Given the description of an element on the screen output the (x, y) to click on. 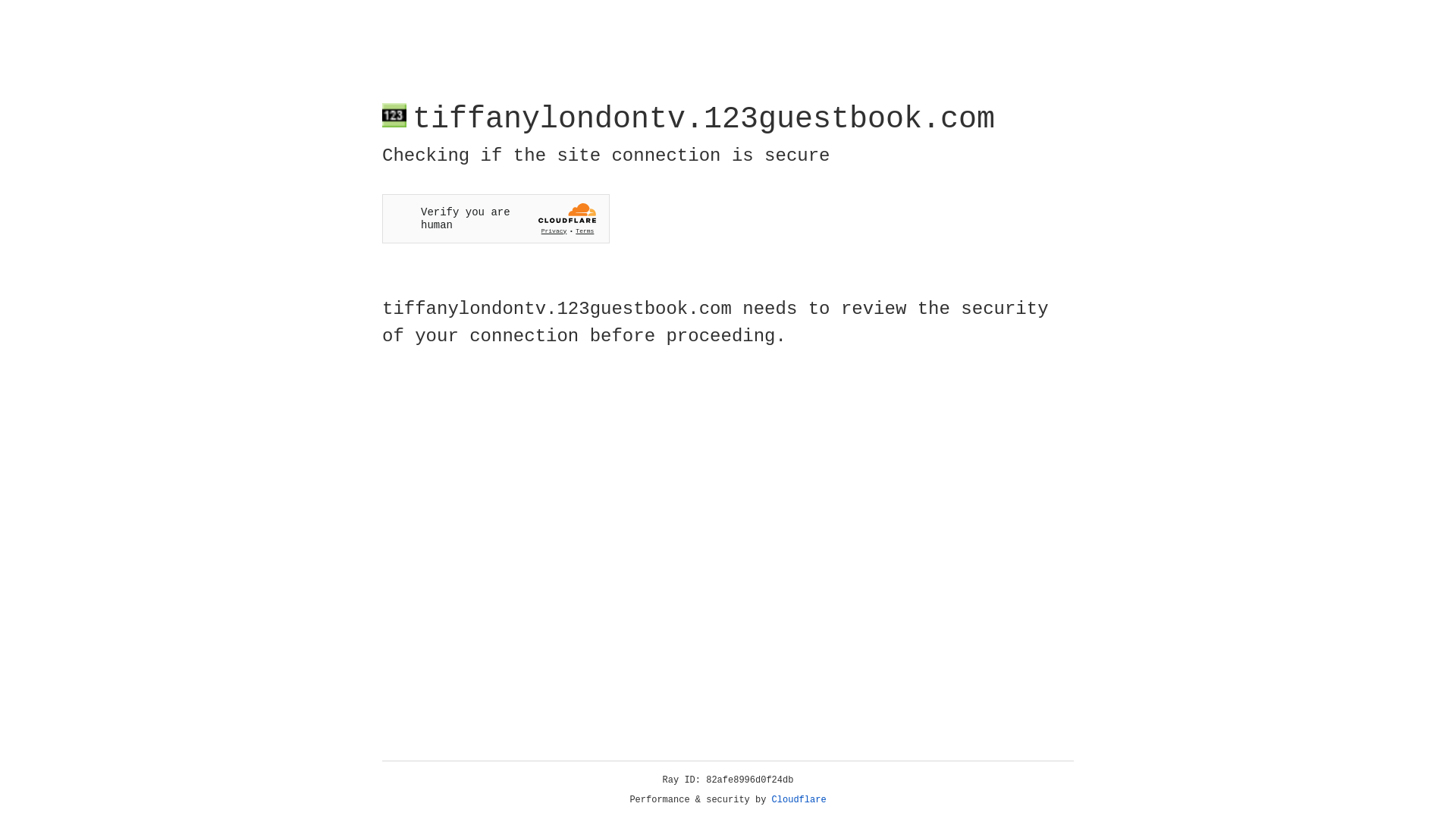
Cloudflare Element type: text (798, 799)
Widget containing a Cloudflare security challenge Element type: hover (495, 218)
